Given the description of an element on the screen output the (x, y) to click on. 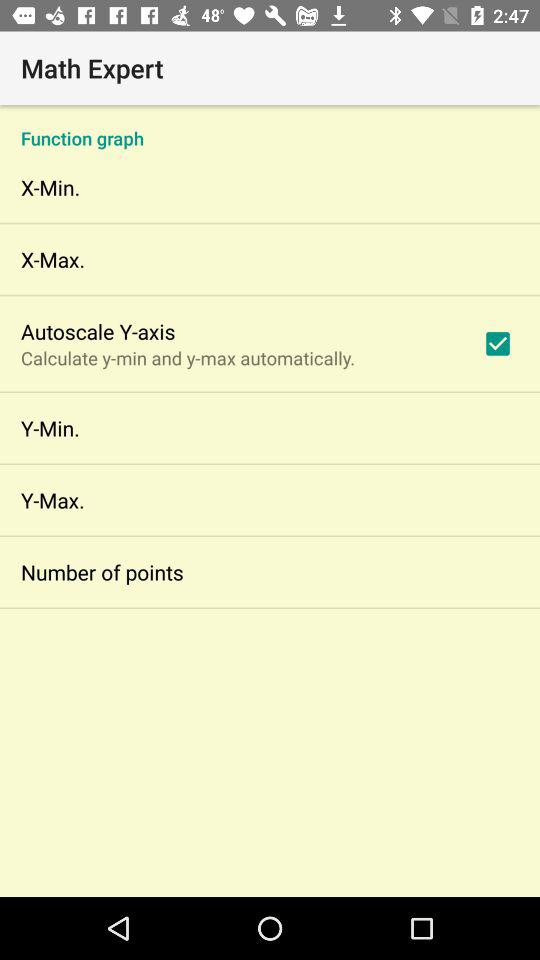
launch function graph item (270, 127)
